Given the description of an element on the screen output the (x, y) to click on. 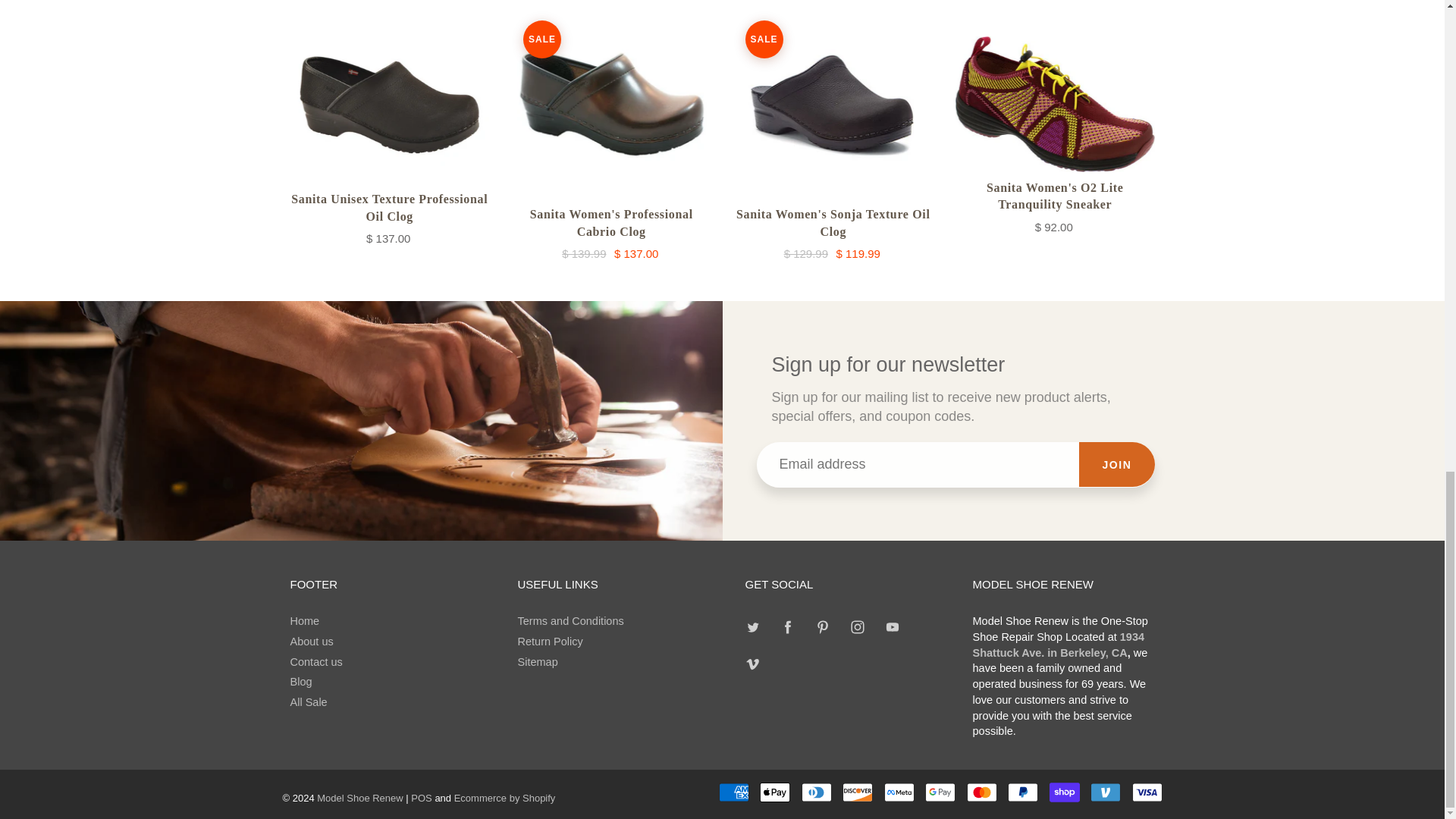
Mastercard (981, 792)
Shop Pay (1064, 792)
American Express (734, 792)
Apple Pay (775, 792)
Discover (857, 792)
Meta Pay (898, 792)
Twitter (753, 626)
Diners Club (816, 792)
PayPal (1022, 792)
Google Pay (939, 792)
